Given the description of an element on the screen output the (x, y) to click on. 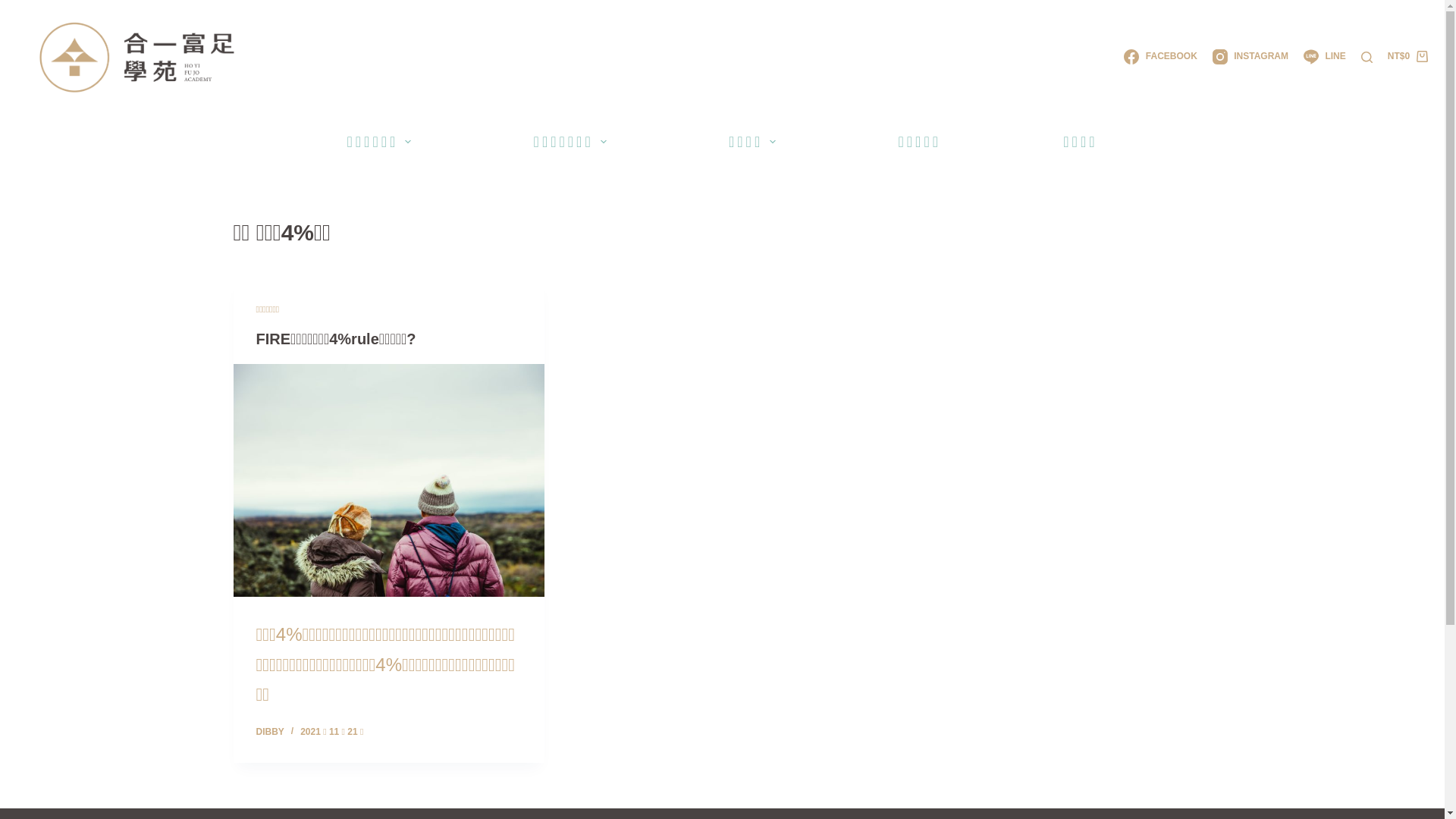
DIBBY Element type: text (270, 731)
FACEBOOK Element type: text (1159, 56)
INSTAGRAM Element type: text (1250, 56)
LINE Element type: text (1324, 56)
